Given the description of an element on the screen output the (x, y) to click on. 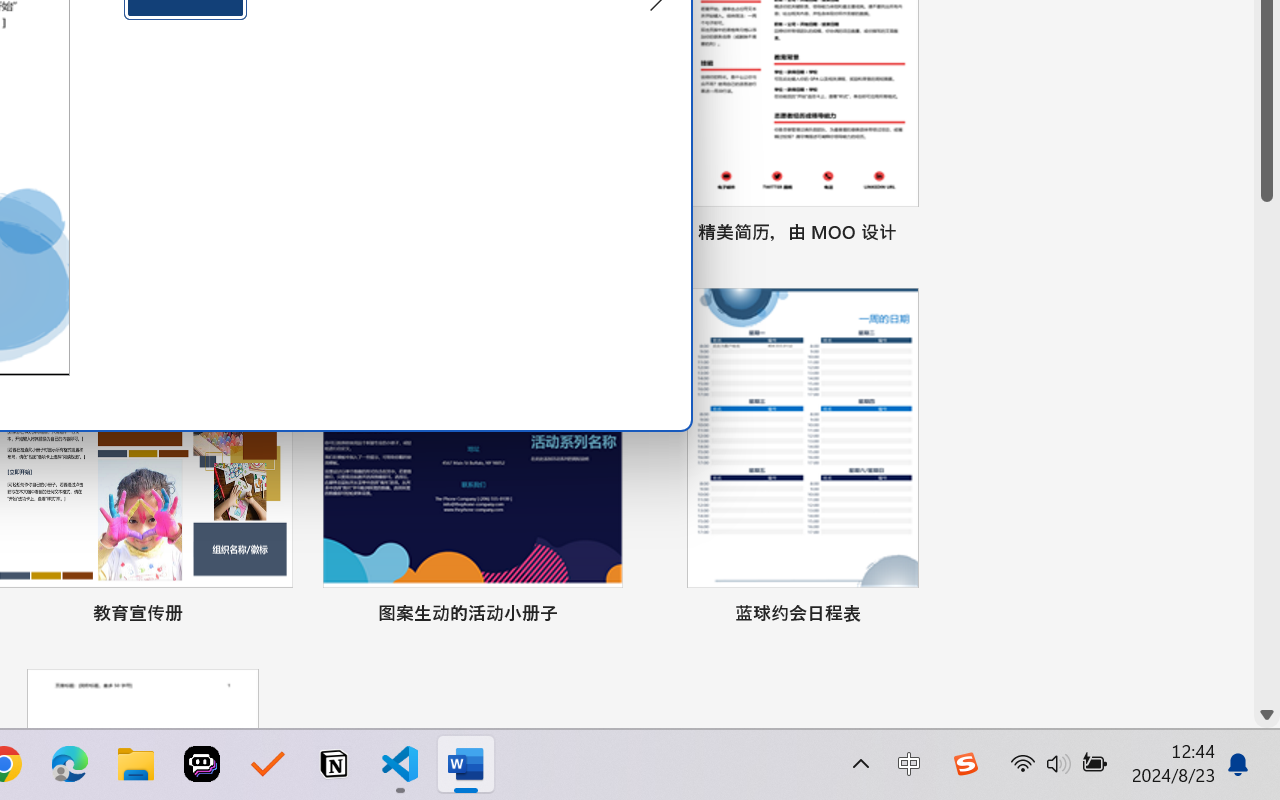
Pin to list (934, 616)
Page down (1267, 451)
Microsoft Edge (69, 764)
Line down (1267, 715)
